Given the description of an element on the screen output the (x, y) to click on. 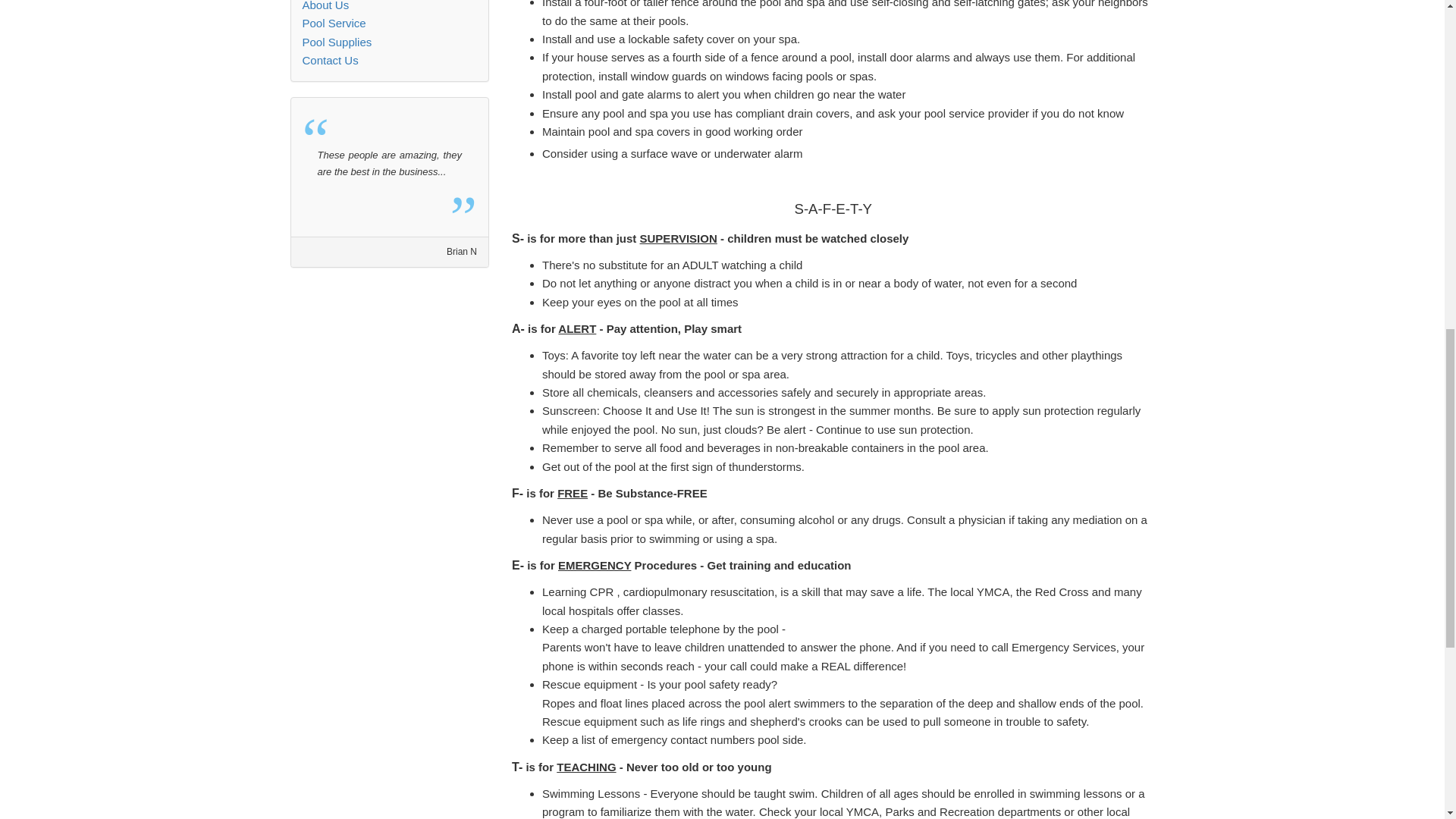
About Us (325, 5)
Pool Supplies (336, 42)
Pool Service (333, 22)
Contact Us (329, 60)
